Given the description of an element on the screen output the (x, y) to click on. 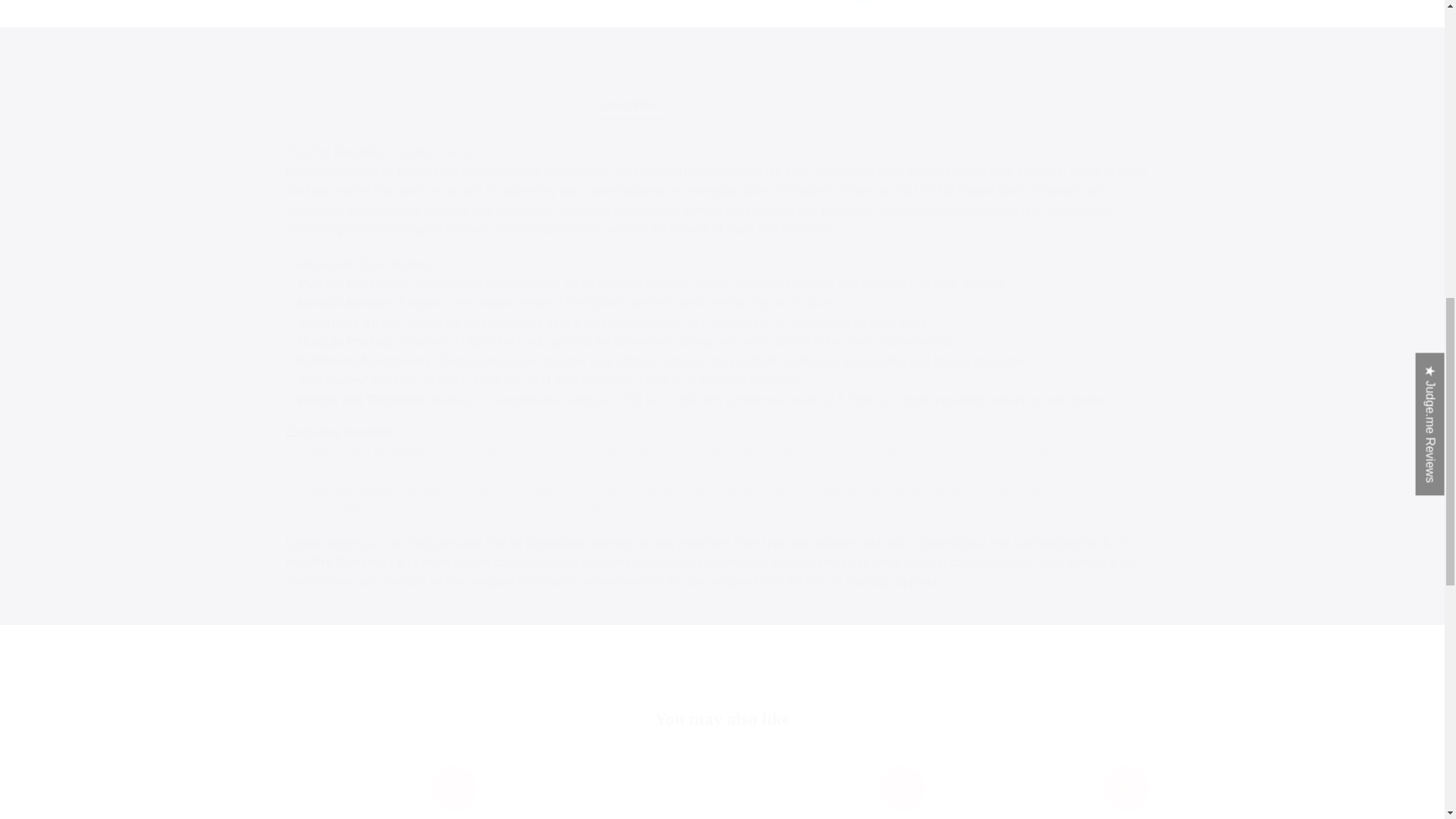
Description (630, 104)
Reviews (838, 104)
 Order Processing  (742, 104)
